Given the description of an element on the screen output the (x, y) to click on. 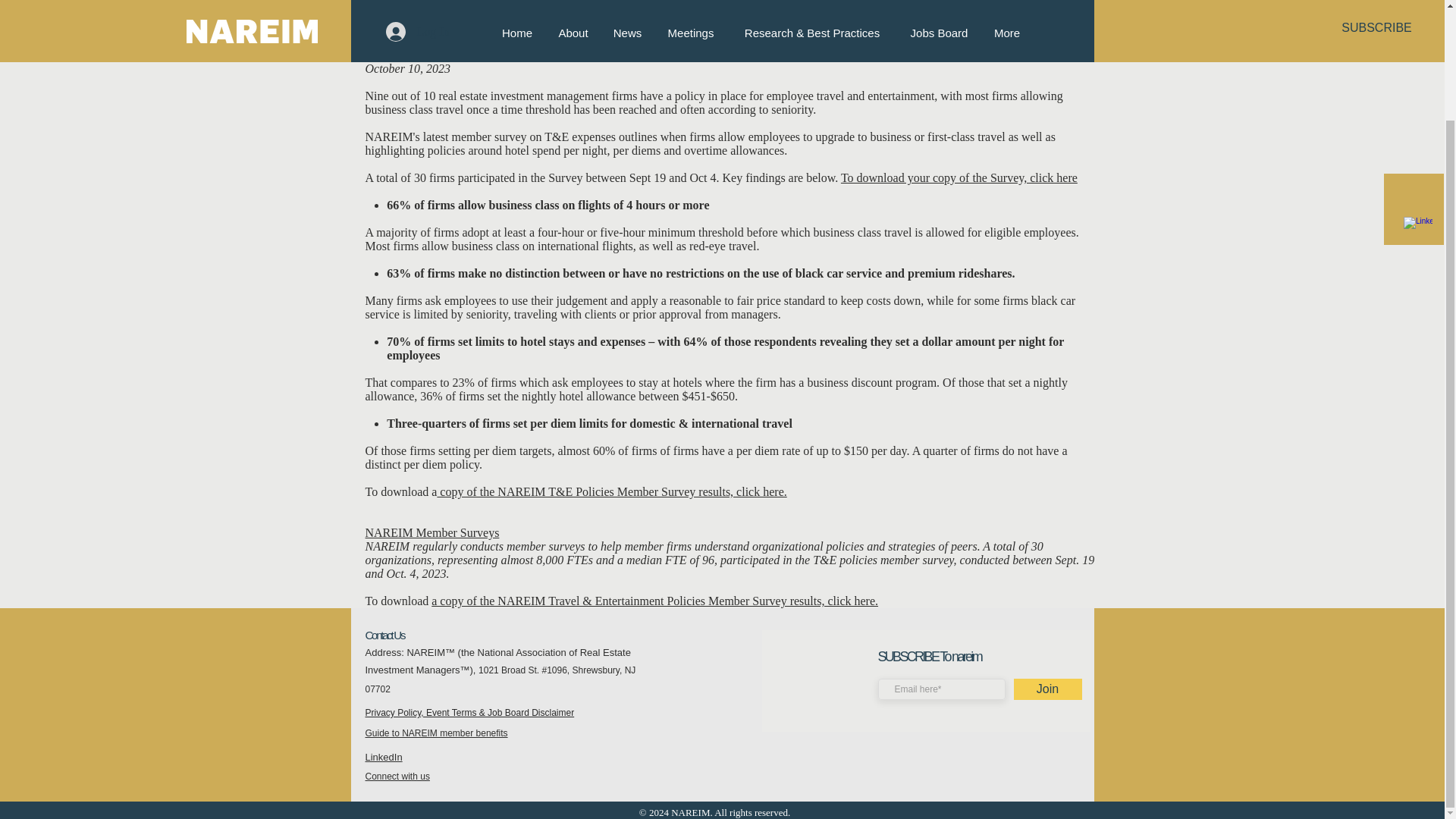
To download your copy of the Survey, click here (959, 177)
Guide to NAREIM member benefits (436, 733)
Contact Us (384, 634)
LinkedIn (384, 756)
